Given the description of an element on the screen output the (x, y) to click on. 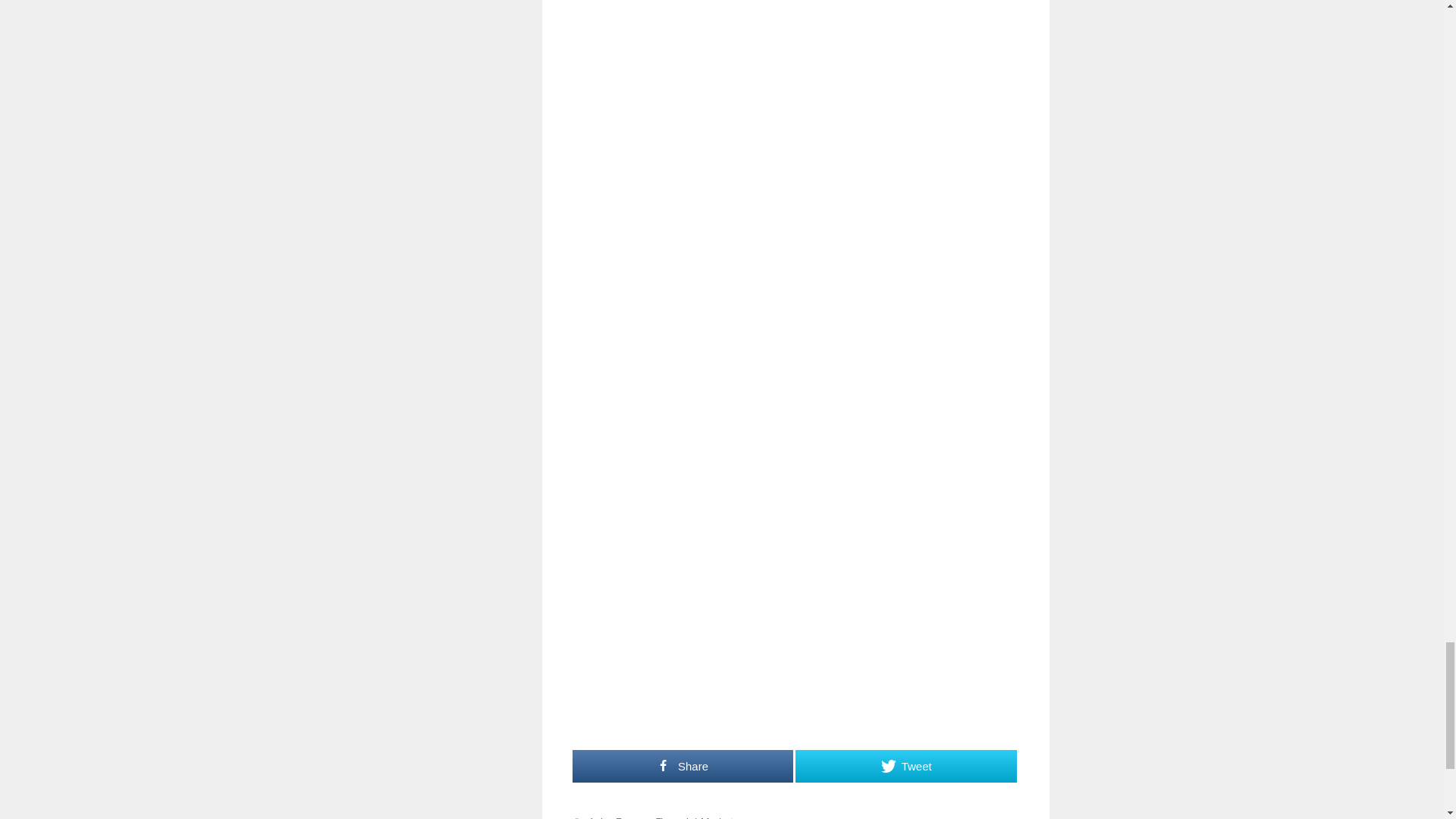
Europe (632, 816)
Asia (598, 816)
Tweet (905, 766)
Financial Markets (697, 816)
Share (682, 766)
